Given the description of an element on the screen output the (x, y) to click on. 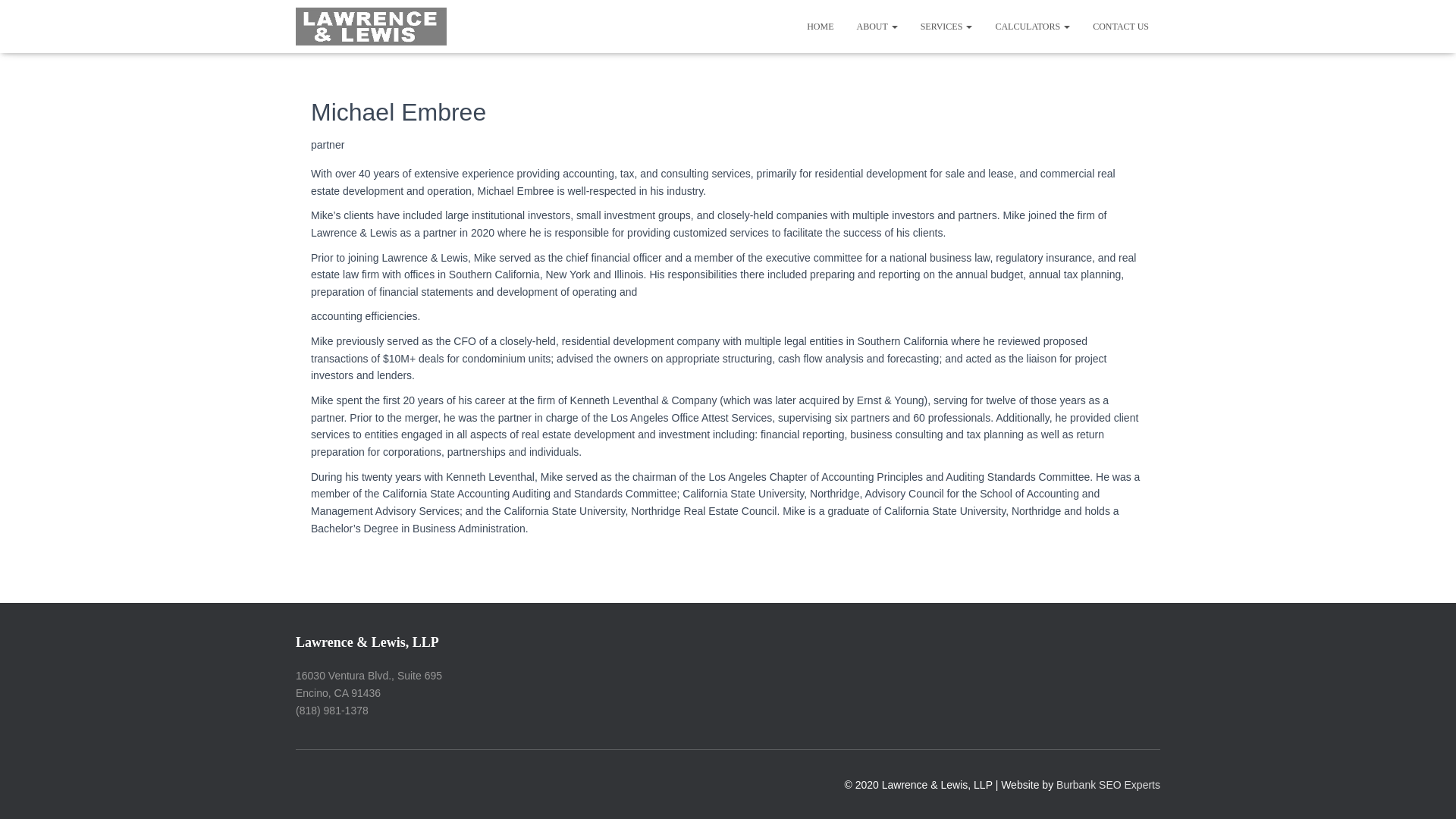
SERVICES (946, 26)
CONTACT US (1120, 26)
HOME (819, 26)
About (876, 26)
Calculators (1032, 26)
Services (946, 26)
Home (819, 26)
ABOUT (876, 26)
Burbank SEO Experts (1108, 784)
CALCULATORS (1032, 26)
